Given the description of an element on the screen output the (x, y) to click on. 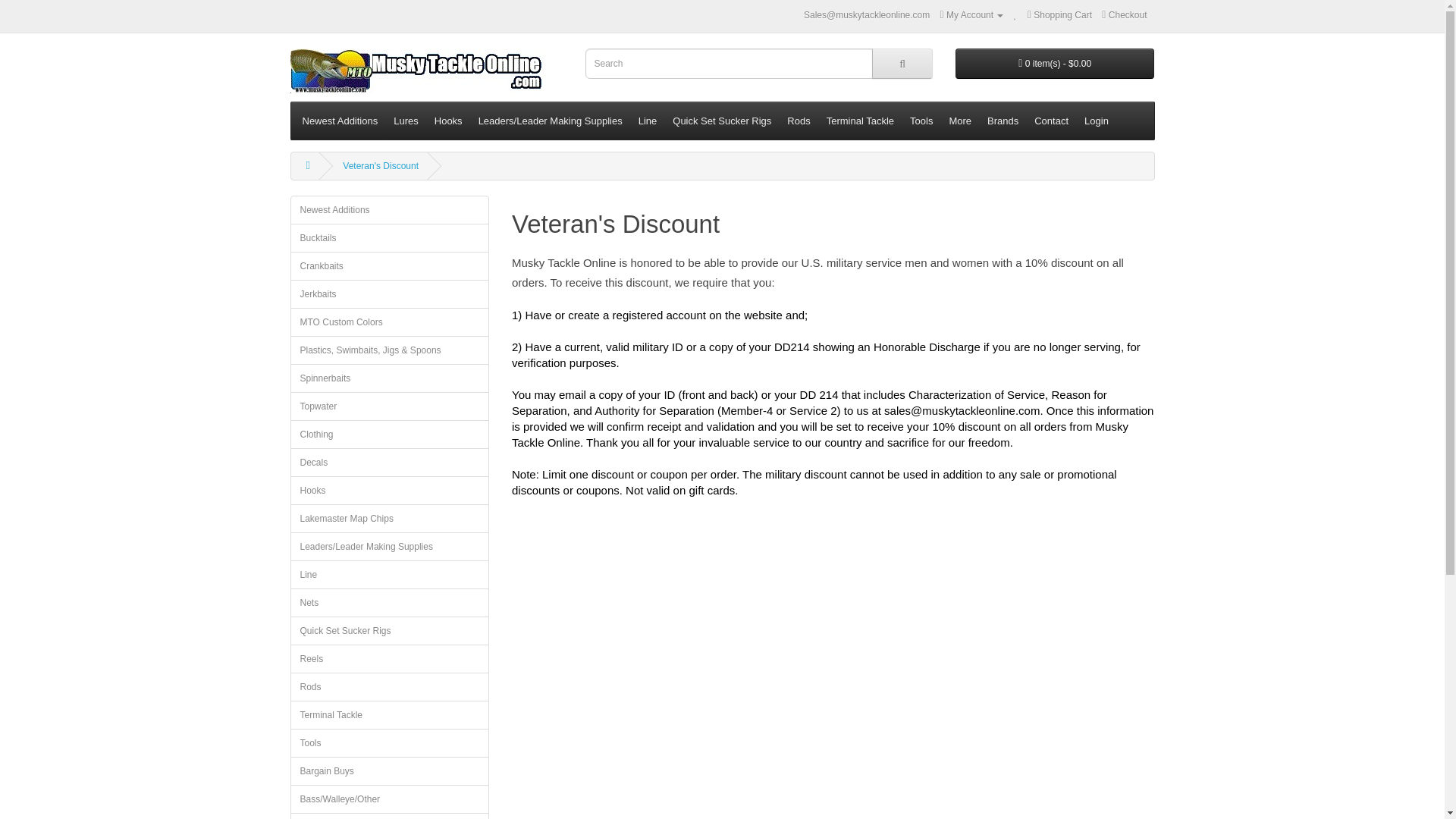
Shopping Cart (1059, 14)
Musky Tackle Online (416, 71)
Newest Additions (339, 121)
My Account (972, 14)
Shopping Cart (1059, 14)
Lures (405, 121)
Checkout (1124, 14)
My Account (972, 14)
Checkout (1124, 14)
